Given the description of an element on the screen output the (x, y) to click on. 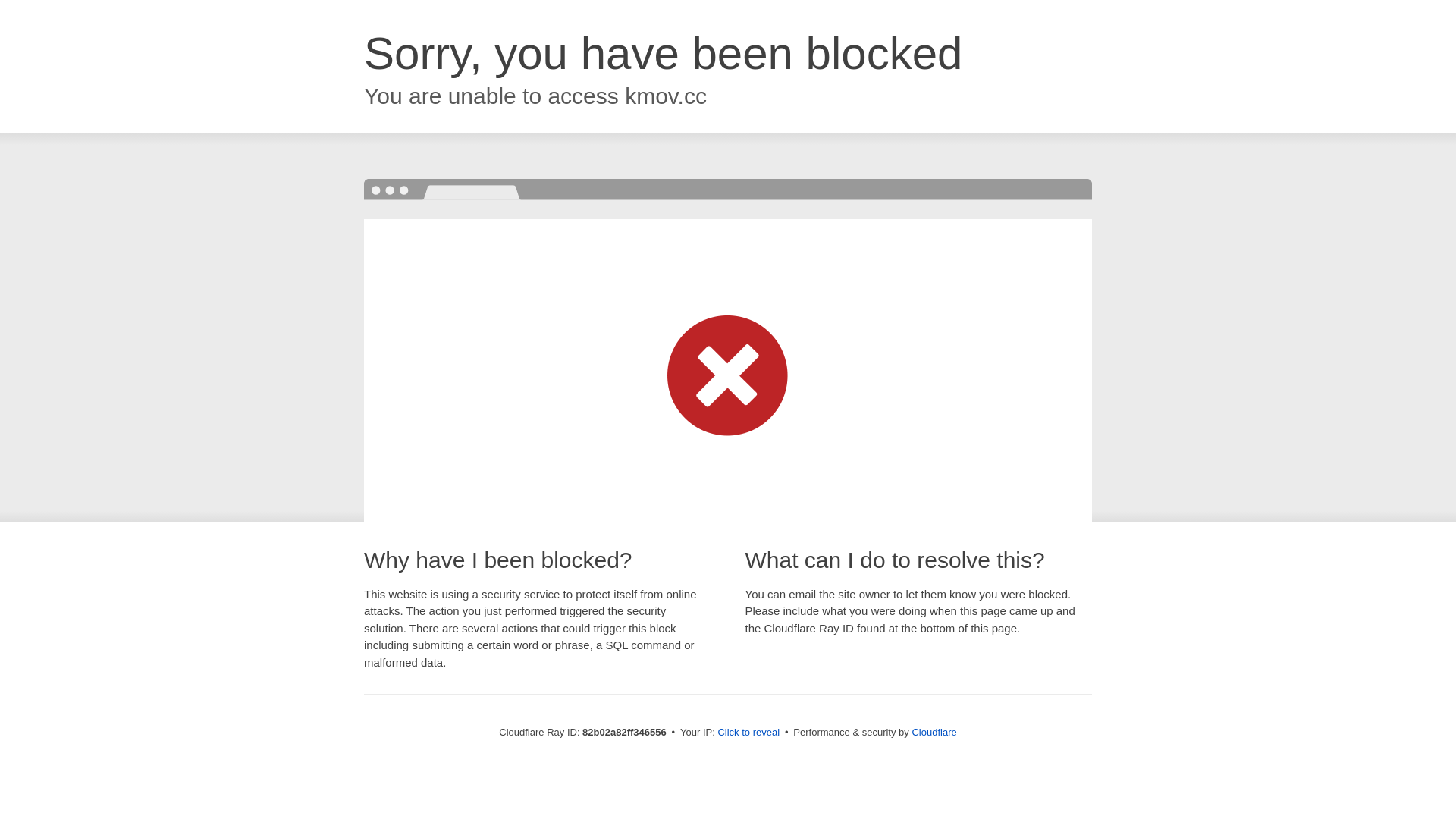
Click to reveal Element type: text (748, 732)
Cloudflare Element type: text (933, 731)
